Given the description of an element on the screen output the (x, y) to click on. 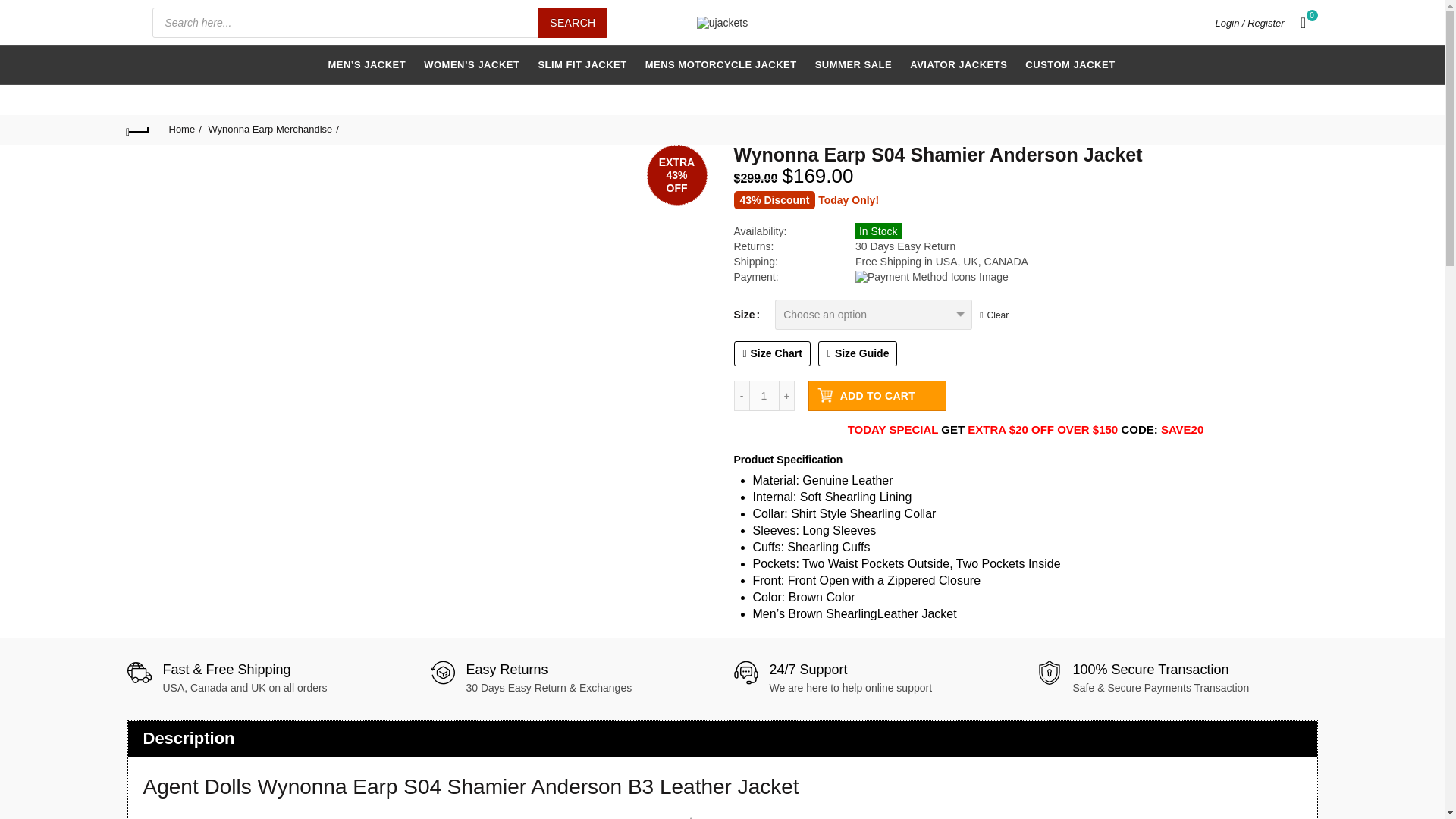
Size Chart (771, 353)
AVIATOR JACKETS (957, 64)
0 (1304, 22)
Size Guide (858, 353)
customer-support (745, 672)
Qty (763, 395)
Clear (994, 315)
ADD TO CART (877, 395)
1 (763, 395)
MENS MOTORCYCLE JACKET (720, 64)
